Given the description of an element on the screen output the (x, y) to click on. 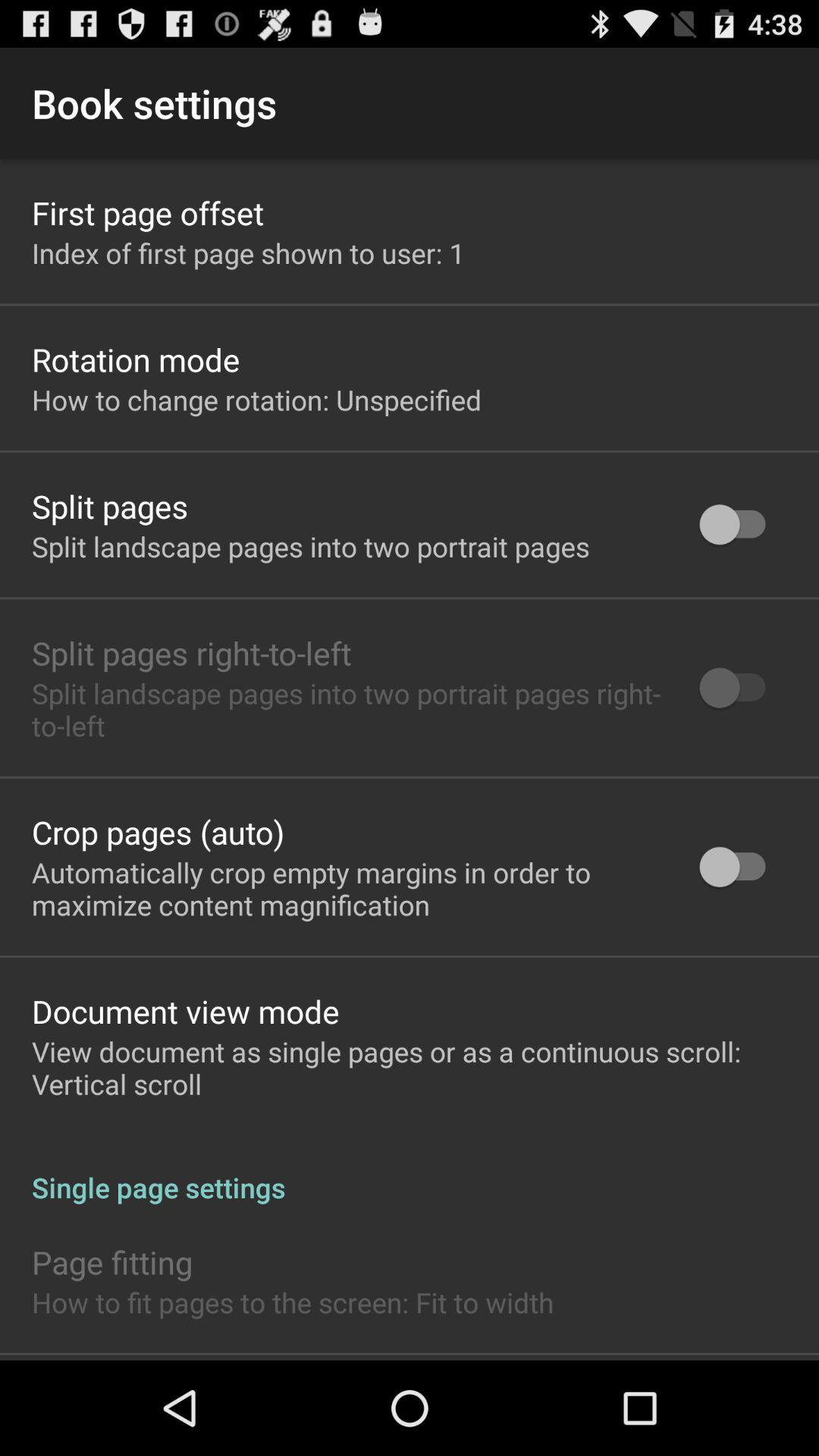
choose the item below the single page settings item (111, 1261)
